Given the description of an element on the screen output the (x, y) to click on. 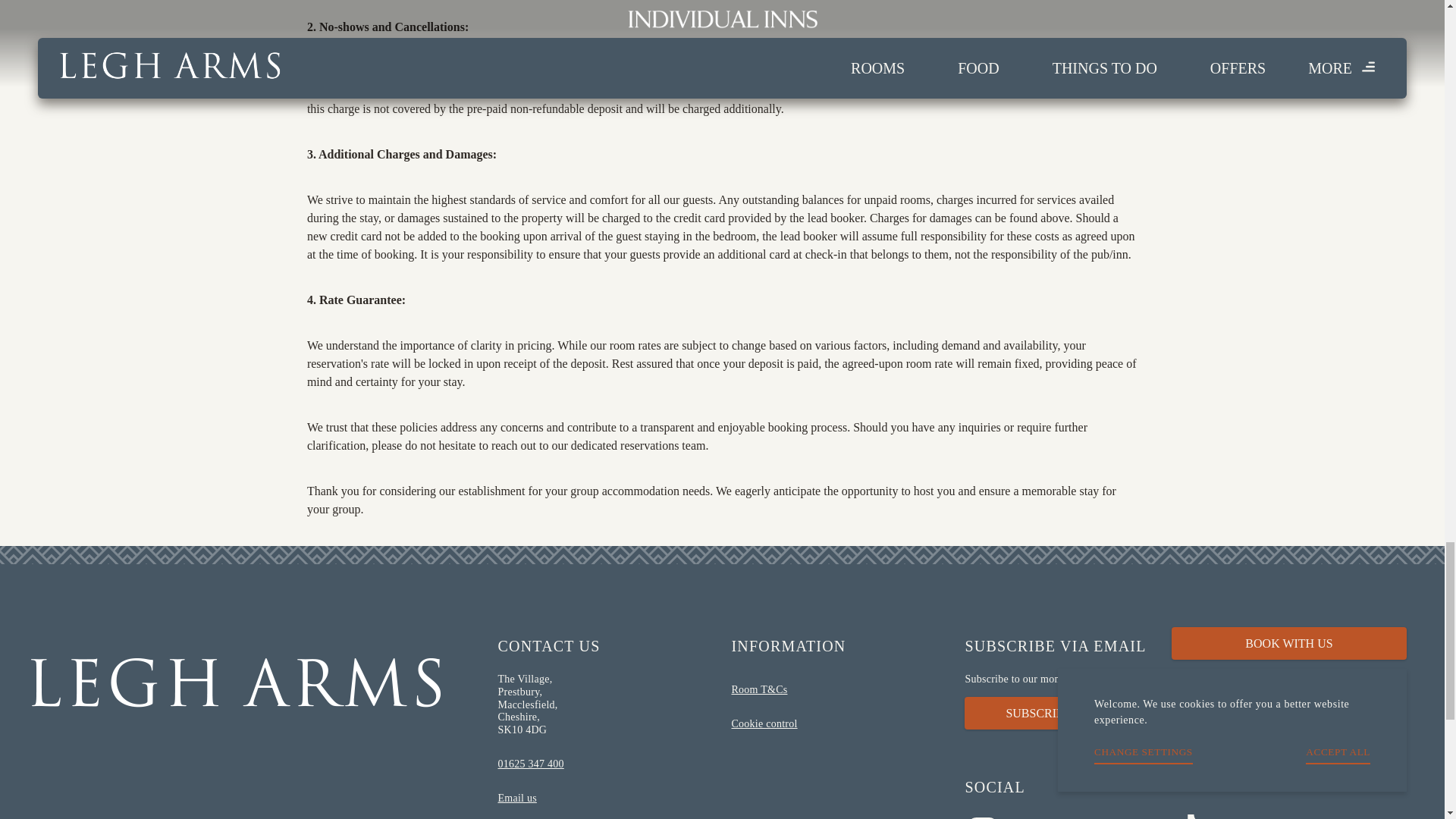
Follow us (1222, 816)
01625 347 400 (605, 764)
Email us (605, 798)
SUBSCRIBE (1037, 712)
Find us (605, 817)
Follow us (1017, 816)
Cookie control (804, 724)
SUBSCRIBE (1188, 712)
Like us (1120, 816)
